Given the description of an element on the screen output the (x, y) to click on. 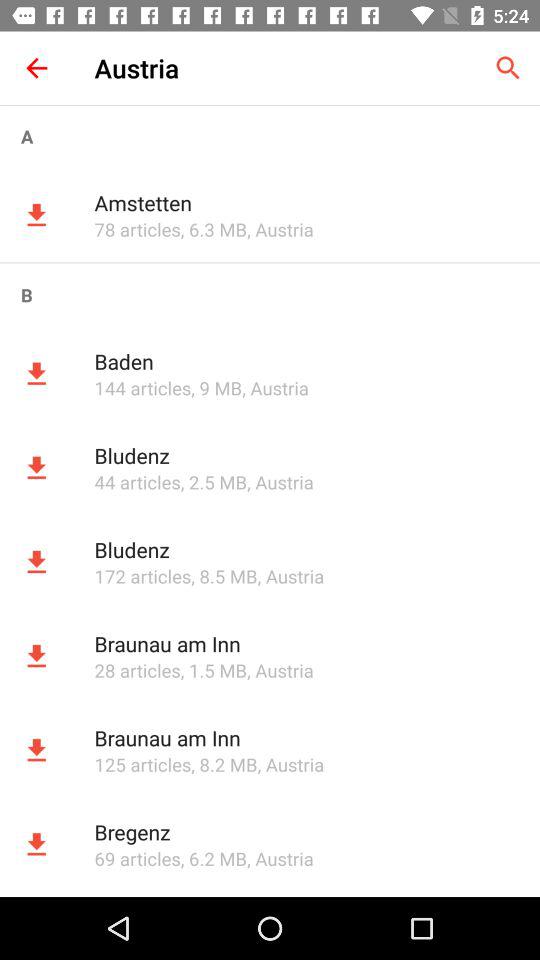
tap app to the left of the , 2.5 mb app (137, 481)
